Given the description of an element on the screen output the (x, y) to click on. 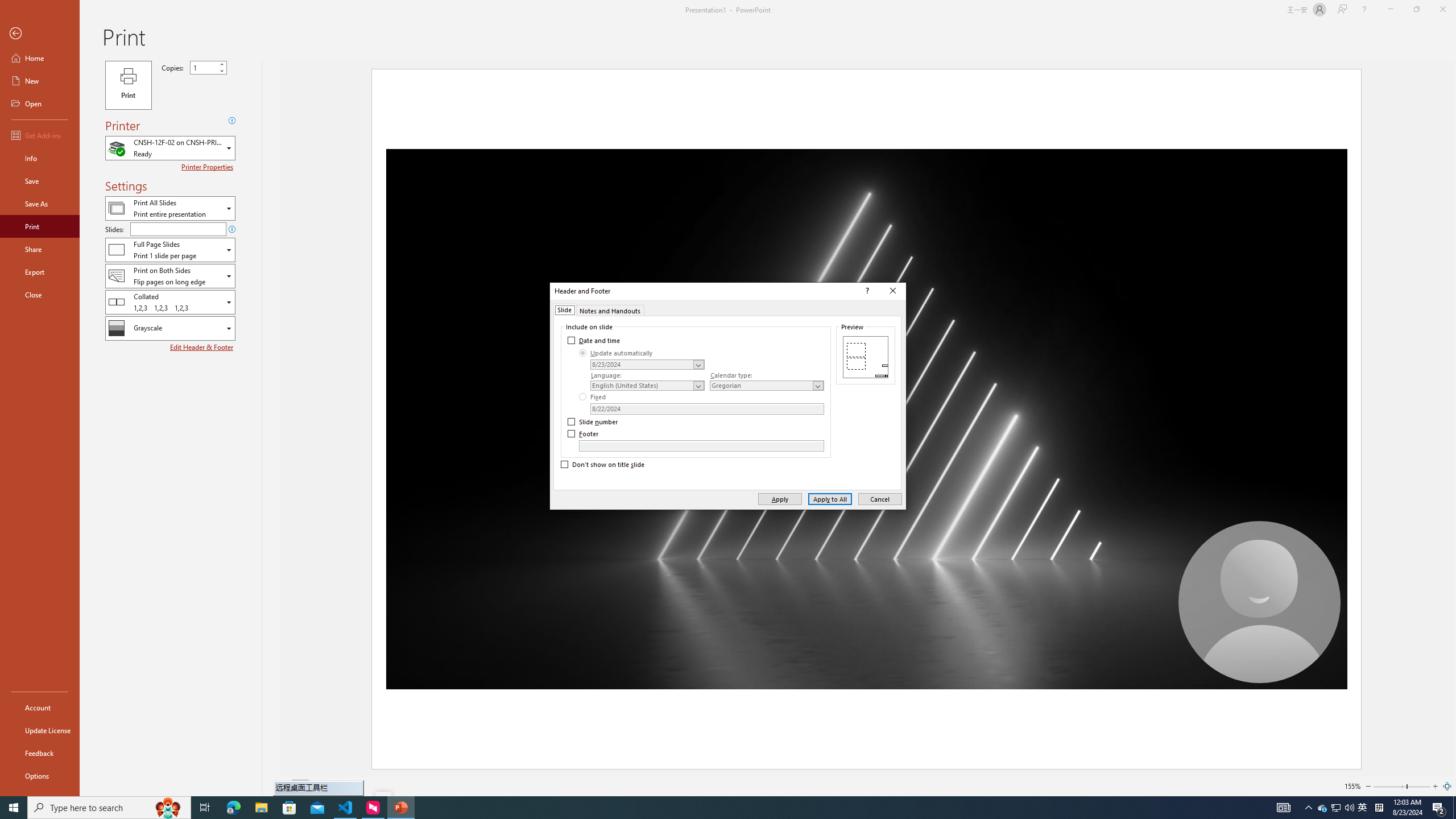
Print What (169, 208)
Zoom to Page (1447, 786)
Date and time (594, 340)
Options (40, 775)
Next Page (328, 786)
Running applications (700, 807)
Language (646, 385)
Copies (203, 67)
